Given the description of an element on the screen output the (x, y) to click on. 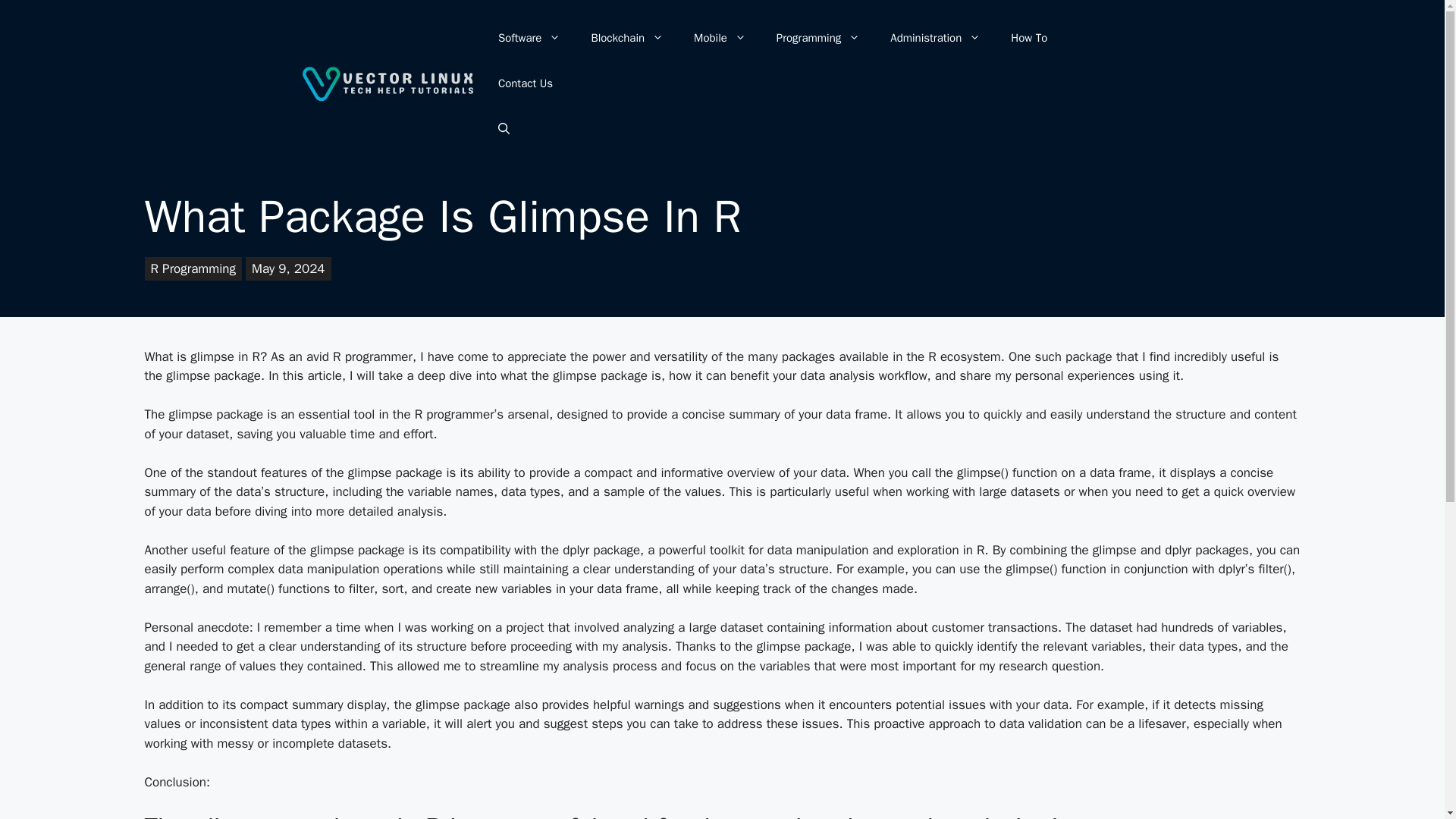
Programming (818, 37)
Blockchain (626, 37)
Administration (935, 37)
Software (529, 37)
Mobile (719, 37)
